Given the description of an element on the screen output the (x, y) to click on. 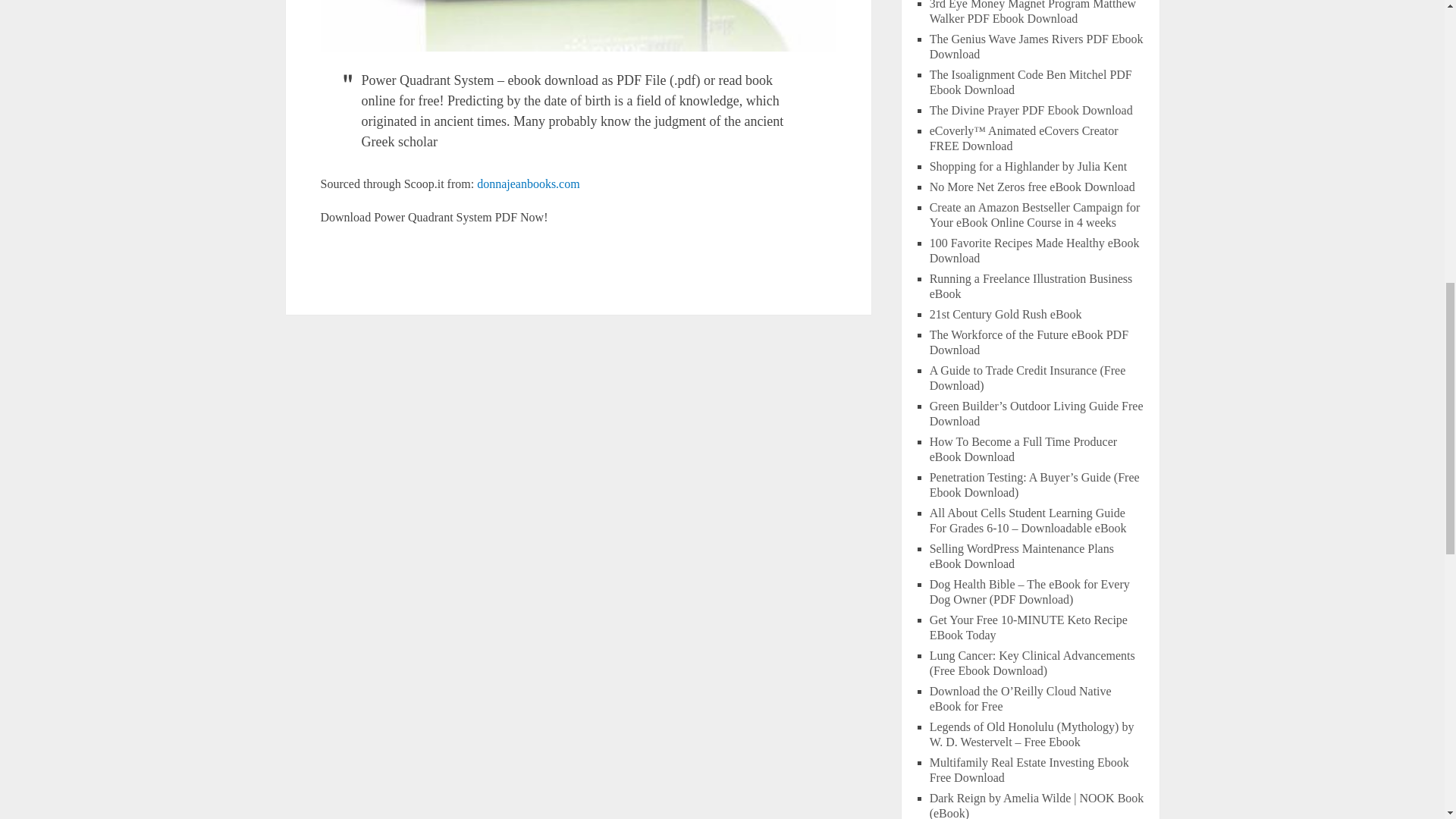
The Genius Wave James Rivers PDF Ebook Download (1036, 46)
Shopping for a Highlander by Julia Kent (1028, 165)
The Isoalignment Code Ben Mitchel PDF Ebook Download (1031, 81)
donnajeanbooks.com (528, 183)
100 Favorite Recipes Made Healthy eBook Download (1035, 250)
Running a Freelance Illustration Business eBook (1031, 285)
The Divine Prayer PDF Ebook Download (1031, 110)
No More Net Zeros free eBook Download (1032, 186)
